Given the description of an element on the screen output the (x, y) to click on. 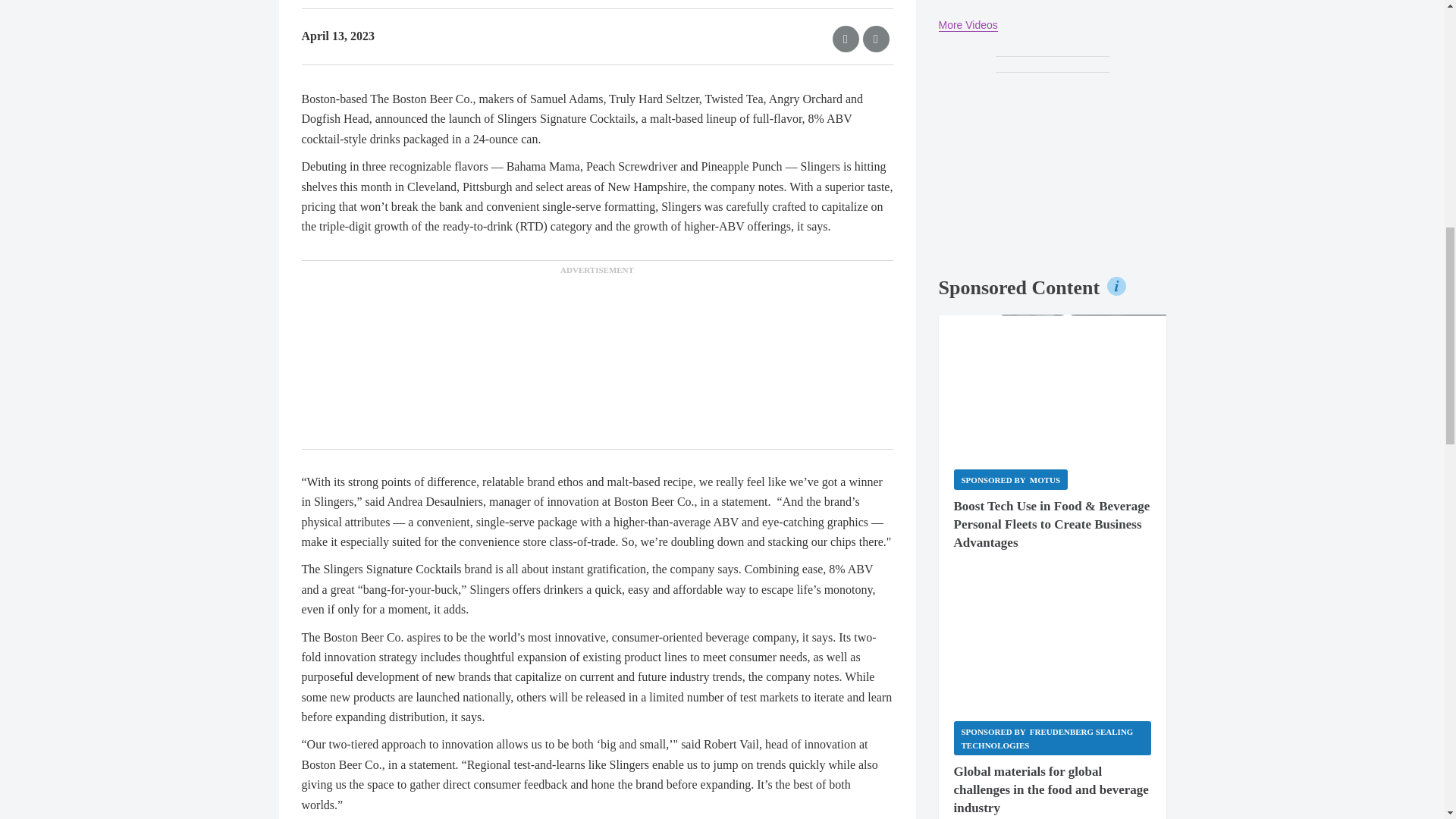
Motus When You Know You Motus (1052, 384)
Sponsored by Motus (1010, 479)
Sponsored by Freudenberg Sealing Technologies (1052, 738)
Freudenberg Sealing Technologies Global Sealing Materials (1052, 635)
